Given the description of an element on the screen output the (x, y) to click on. 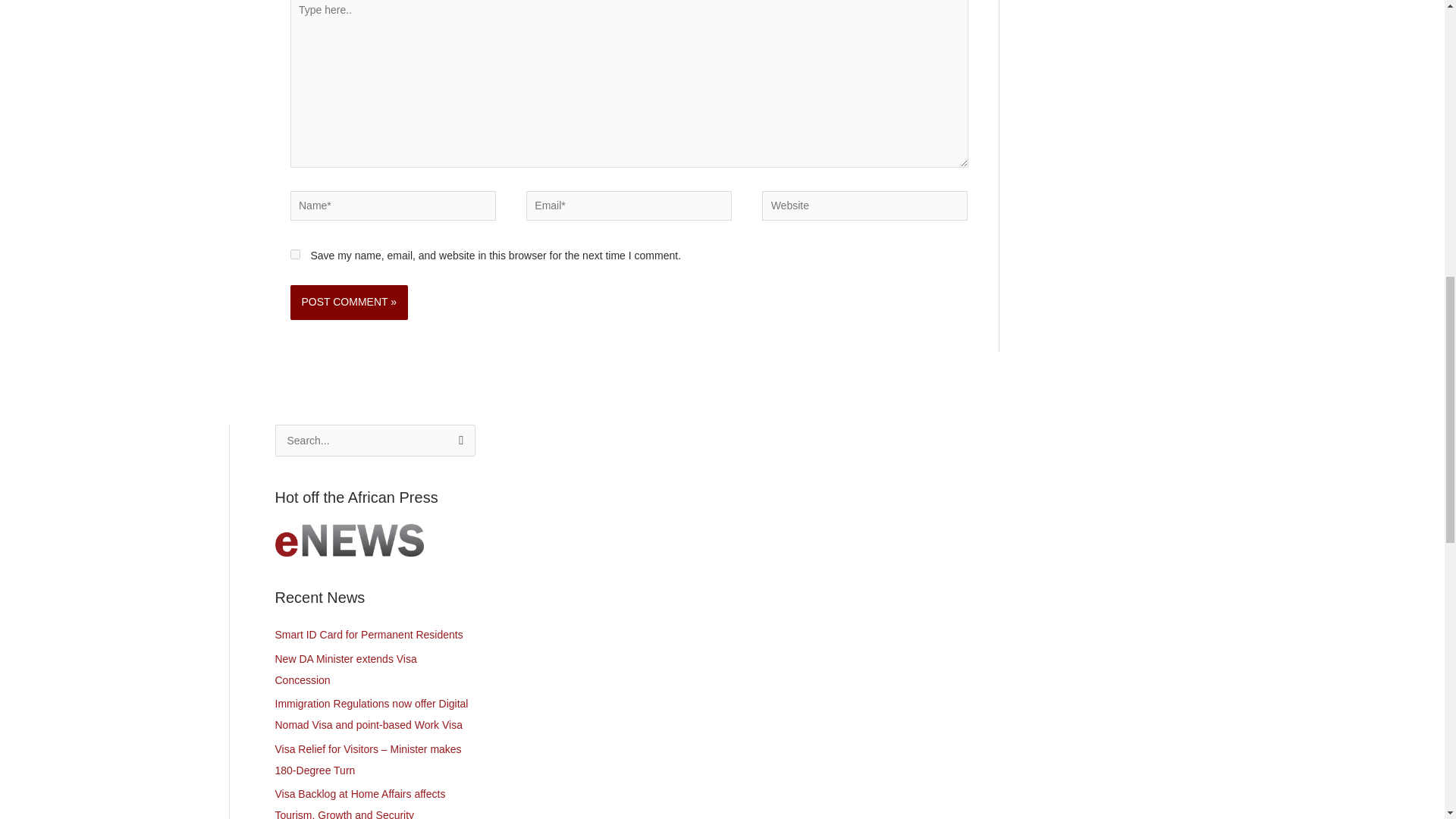
Search (458, 441)
yes (294, 254)
Search (458, 441)
